Given the description of an element on the screen output the (x, y) to click on. 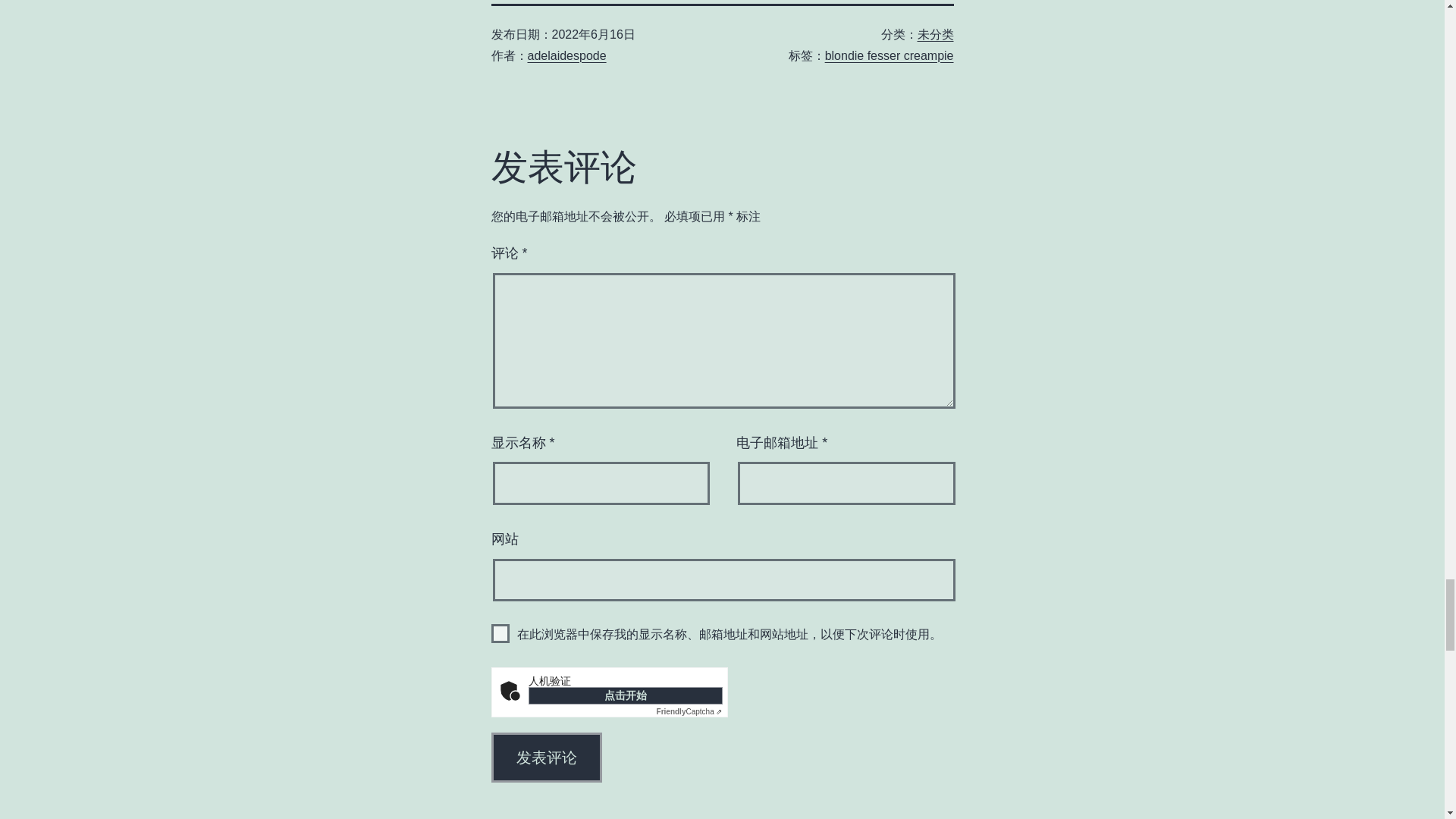
adelaidespode (567, 55)
yes (500, 633)
blondie fesser creampie (889, 55)
